Given the description of an element on the screen output the (x, y) to click on. 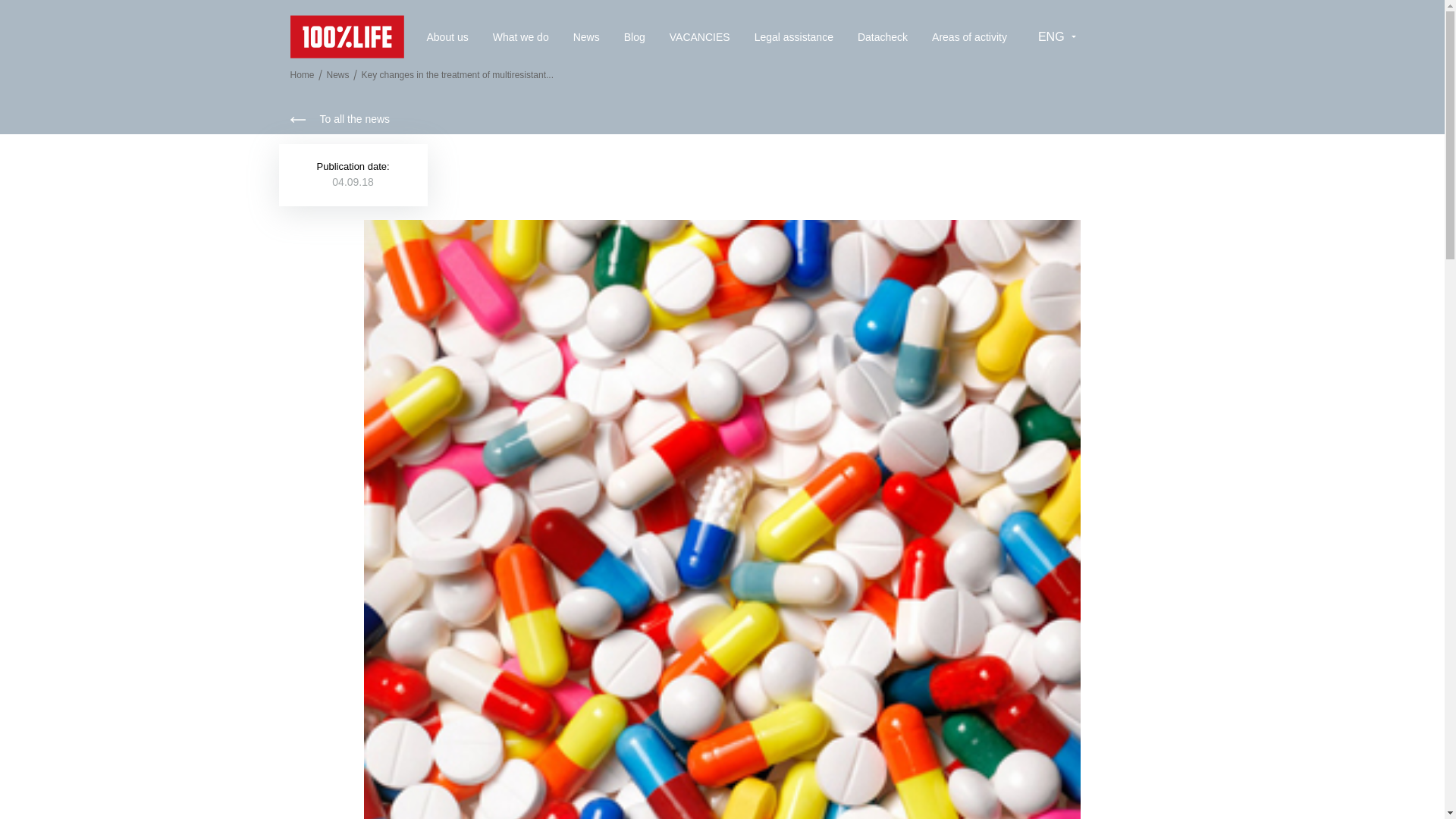
Blog (634, 36)
Legal assistance (793, 36)
News (586, 36)
Datacheck (882, 36)
To all the news (339, 119)
Areas of activity (969, 36)
About us (446, 36)
Home (301, 74)
What we do (520, 36)
Datacheck (882, 36)
About us (446, 36)
What we do (520, 36)
VACANCIES (699, 36)
Areas of activity (969, 36)
Legal assistance (793, 36)
